Given the description of an element on the screen output the (x, y) to click on. 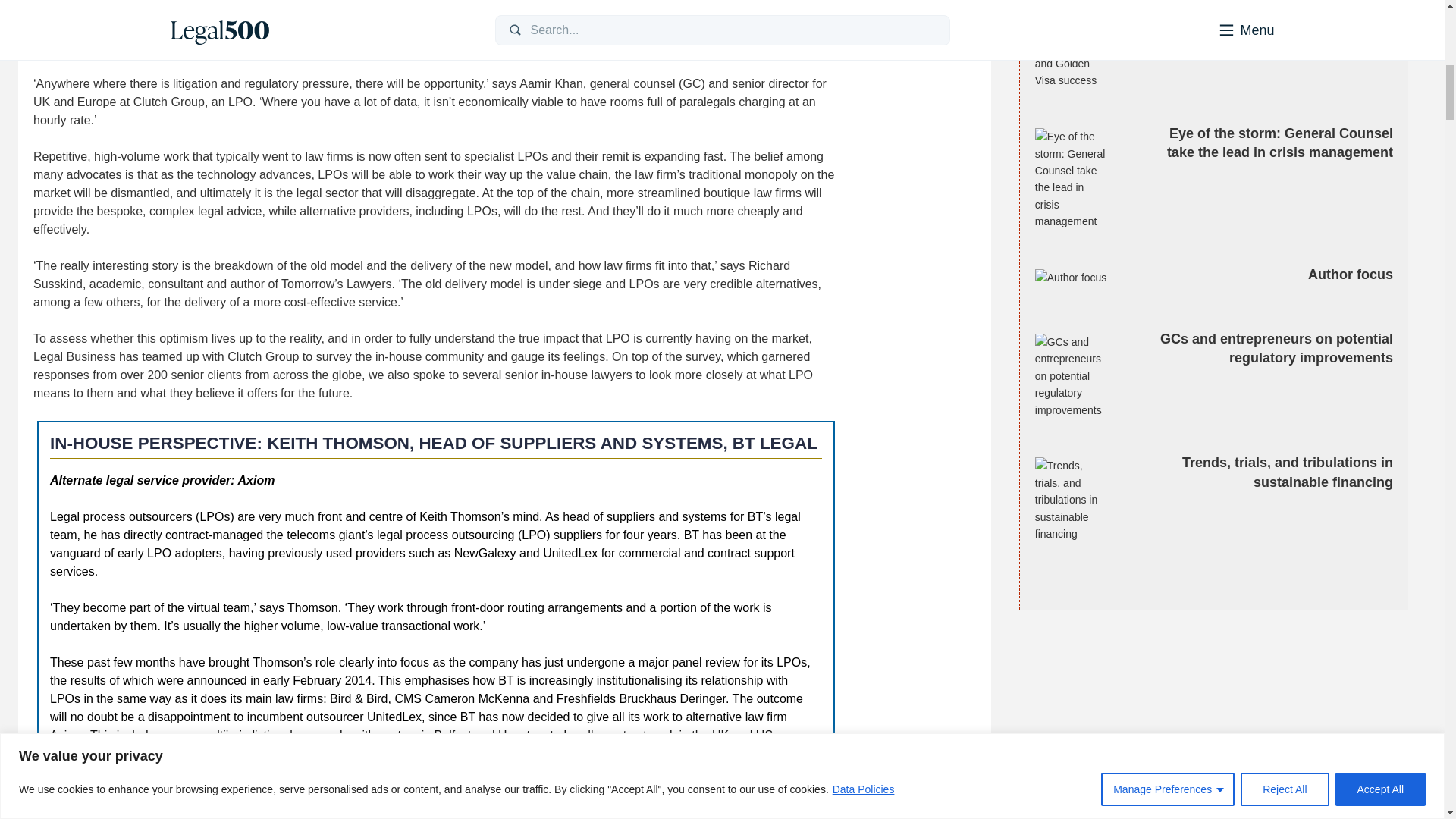
Author focus (1072, 277)
GCs and entrepreneurs on potential regulatory improvements (1072, 375)
Trends, trials, and tribulations in sustainable financing (1072, 499)
